Given the description of an element on the screen output the (x, y) to click on. 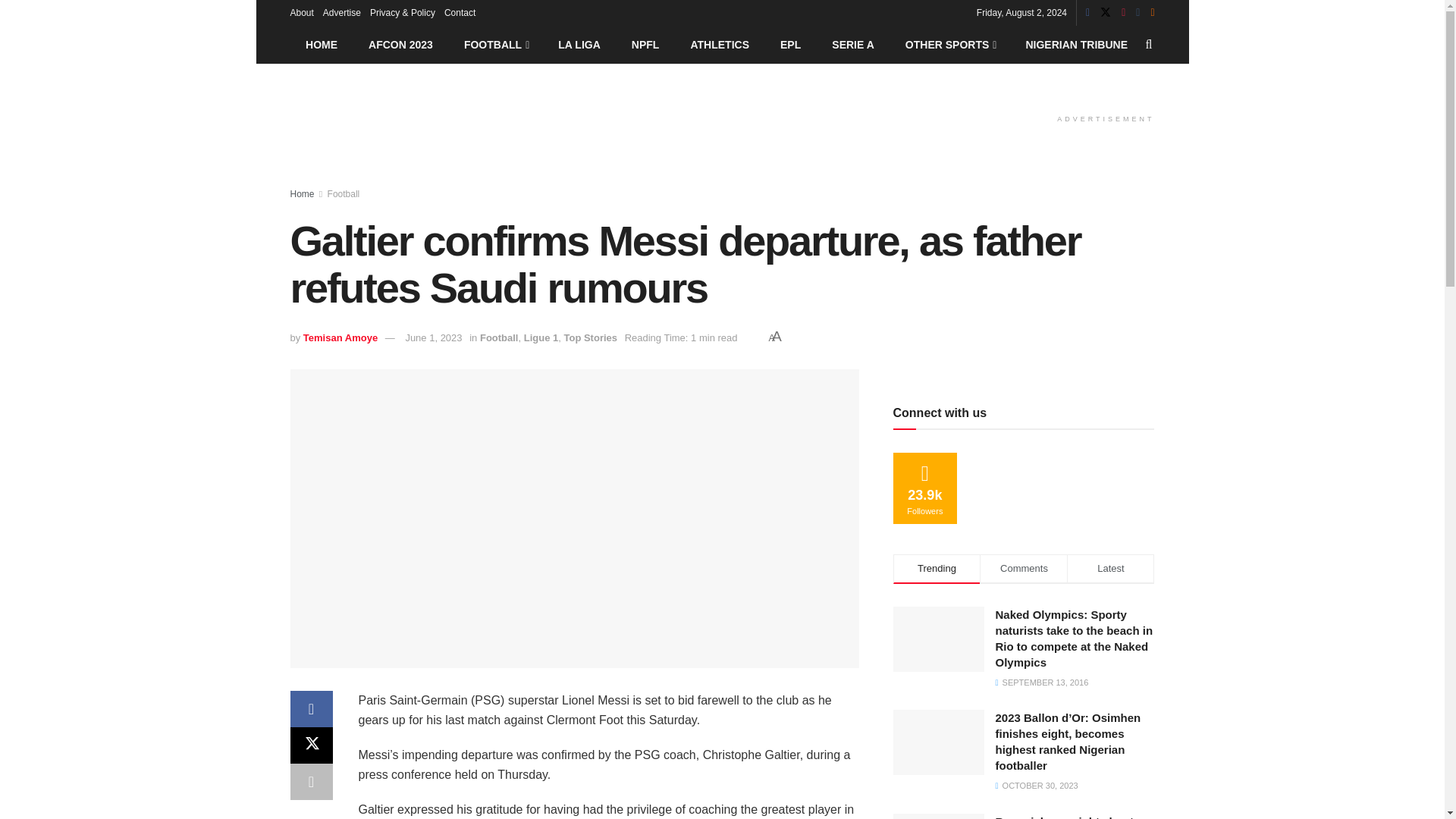
Advertise (342, 12)
EPL (789, 44)
FOOTBALL (494, 44)
AFCON 2023 (400, 44)
Contact (460, 12)
OTHER SPORTS (949, 44)
ATHLETICS (720, 44)
SERIE A (852, 44)
About (301, 12)
HOME (320, 44)
